Given the description of an element on the screen output the (x, y) to click on. 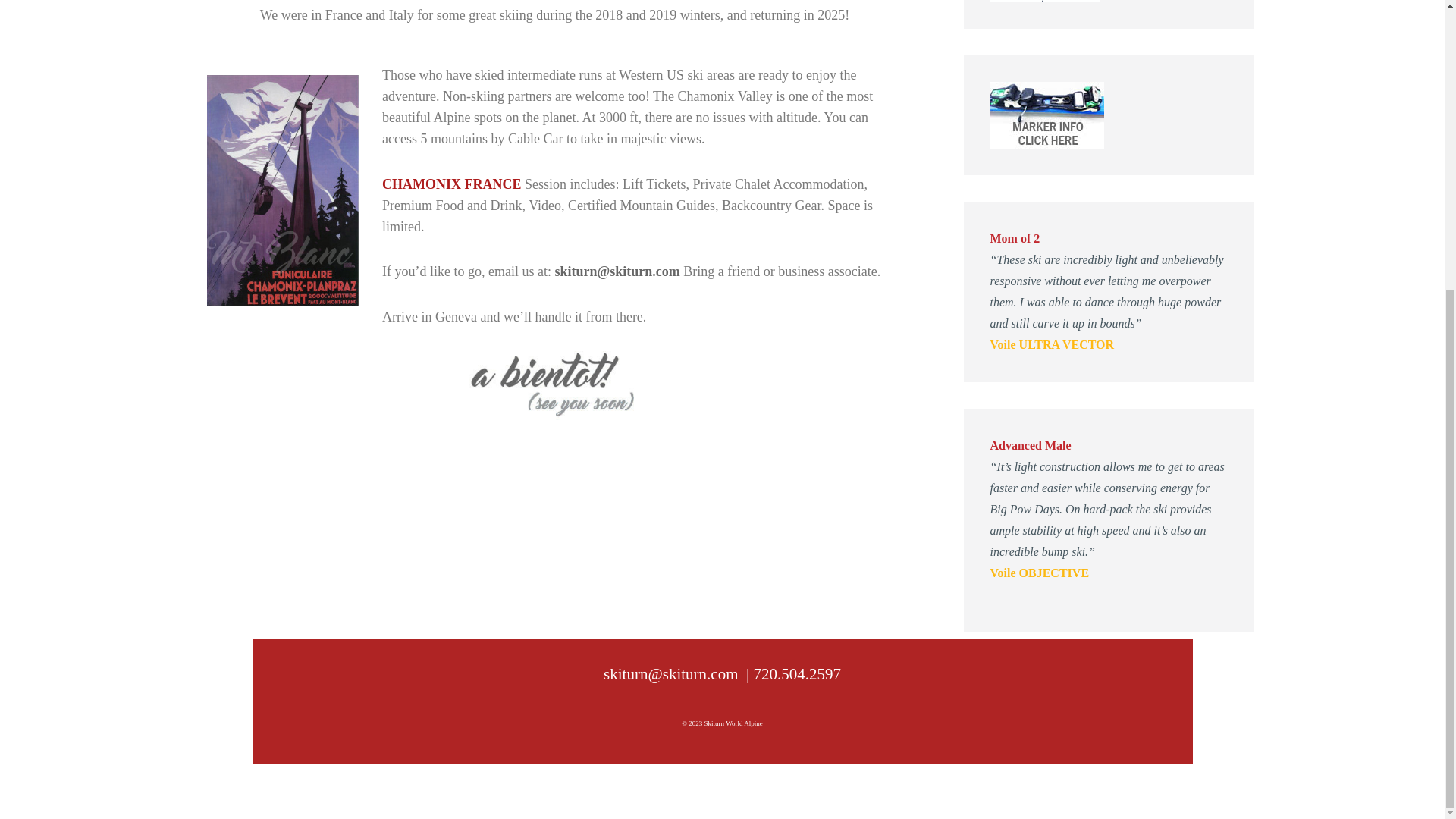
720.504.2597 (796, 674)
Voile Skis (1045, 1)
